Given the description of an element on the screen output the (x, y) to click on. 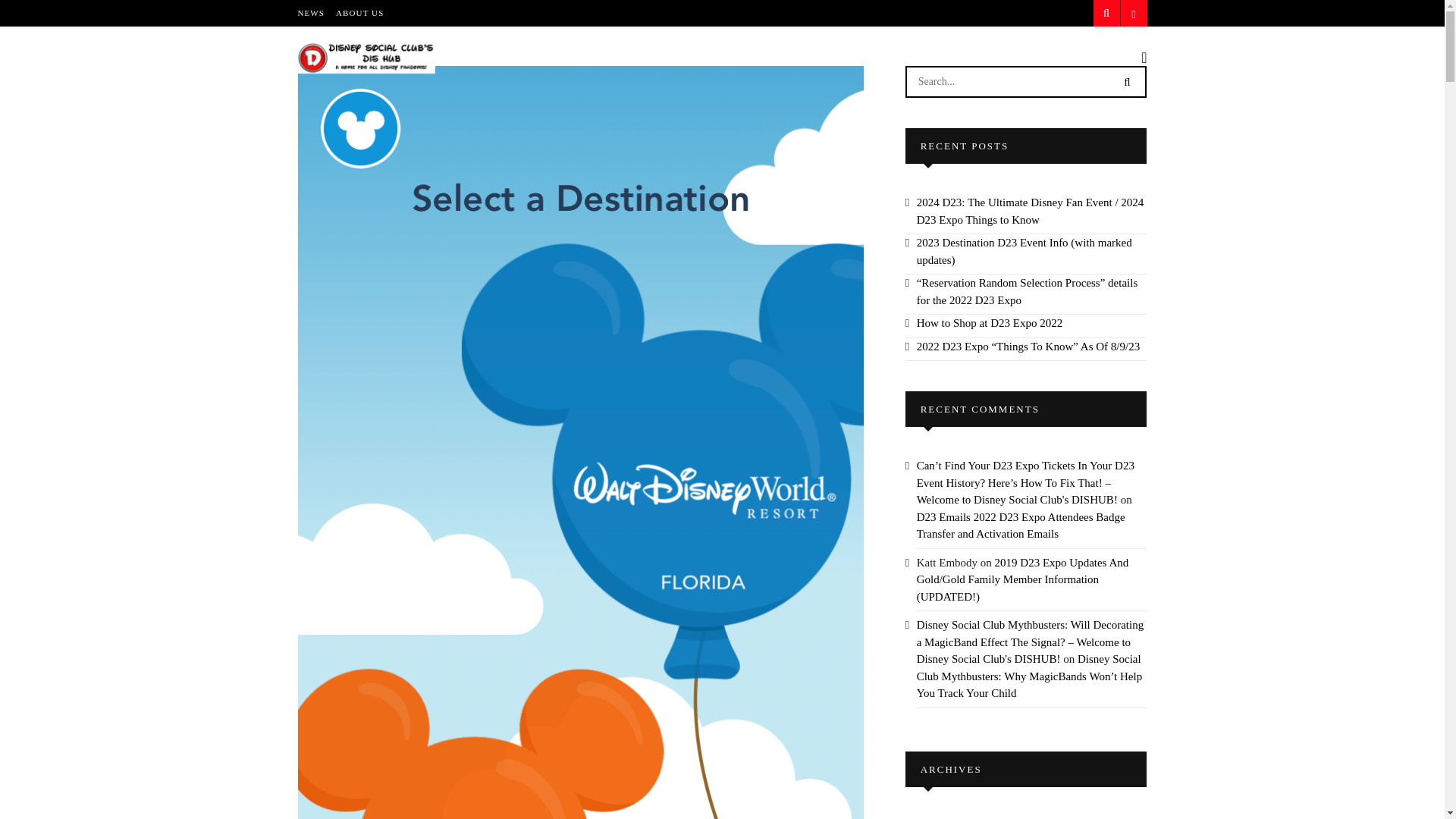
ABOUT US (360, 13)
NEWS (310, 13)
Search (1126, 80)
